Given the description of an element on the screen output the (x, y) to click on. 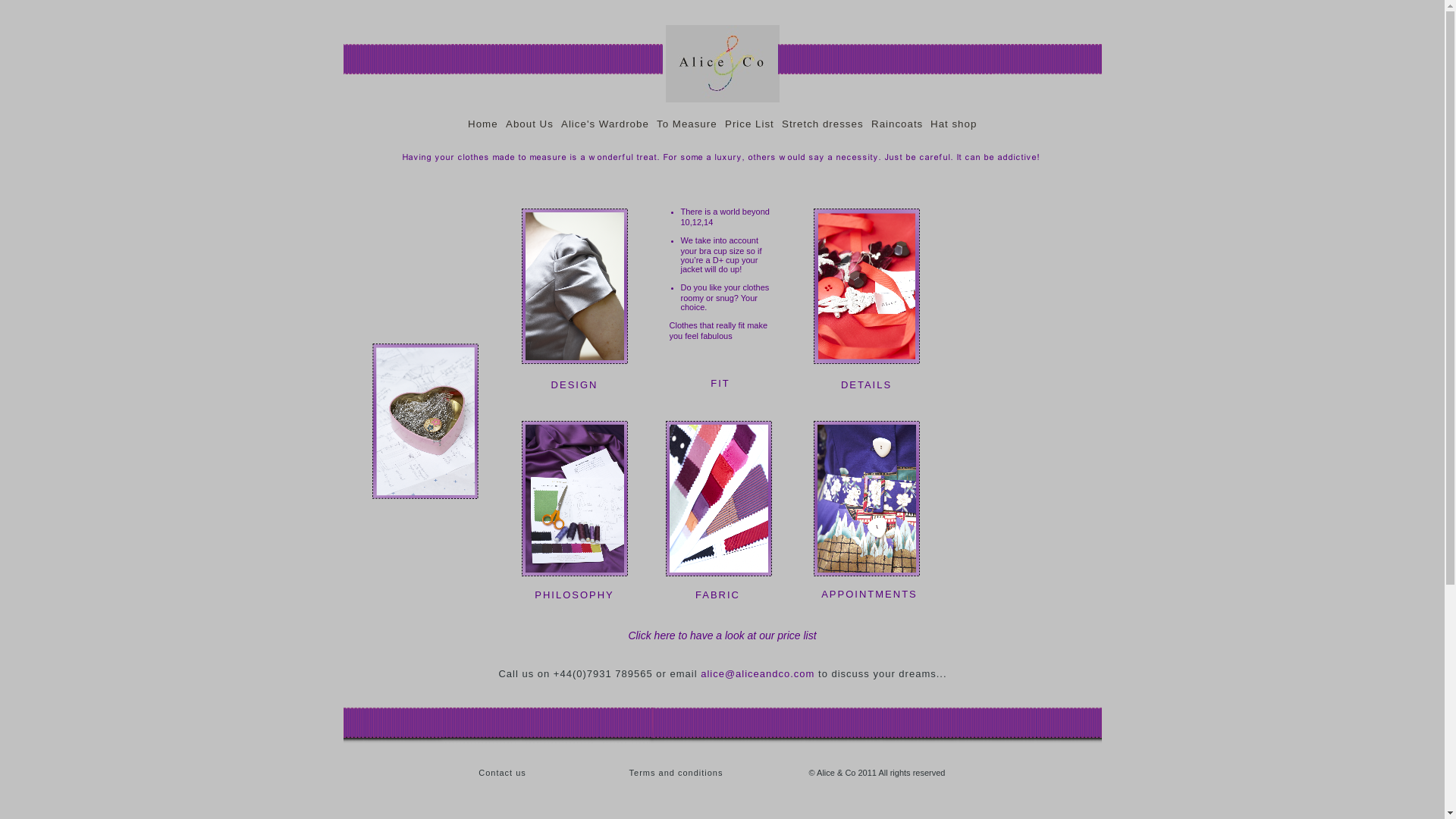
Hat shop (953, 123)
Contact us (502, 772)
Raincoats (896, 123)
DESIGN (574, 384)
DETAILS (866, 384)
FABRIC (717, 594)
PHILOSOPHY (574, 594)
Click here to have a look at our price list (721, 635)
Terms and conditions (675, 772)
Alice's Wardrobe (604, 123)
